Given the description of an element on the screen output the (x, y) to click on. 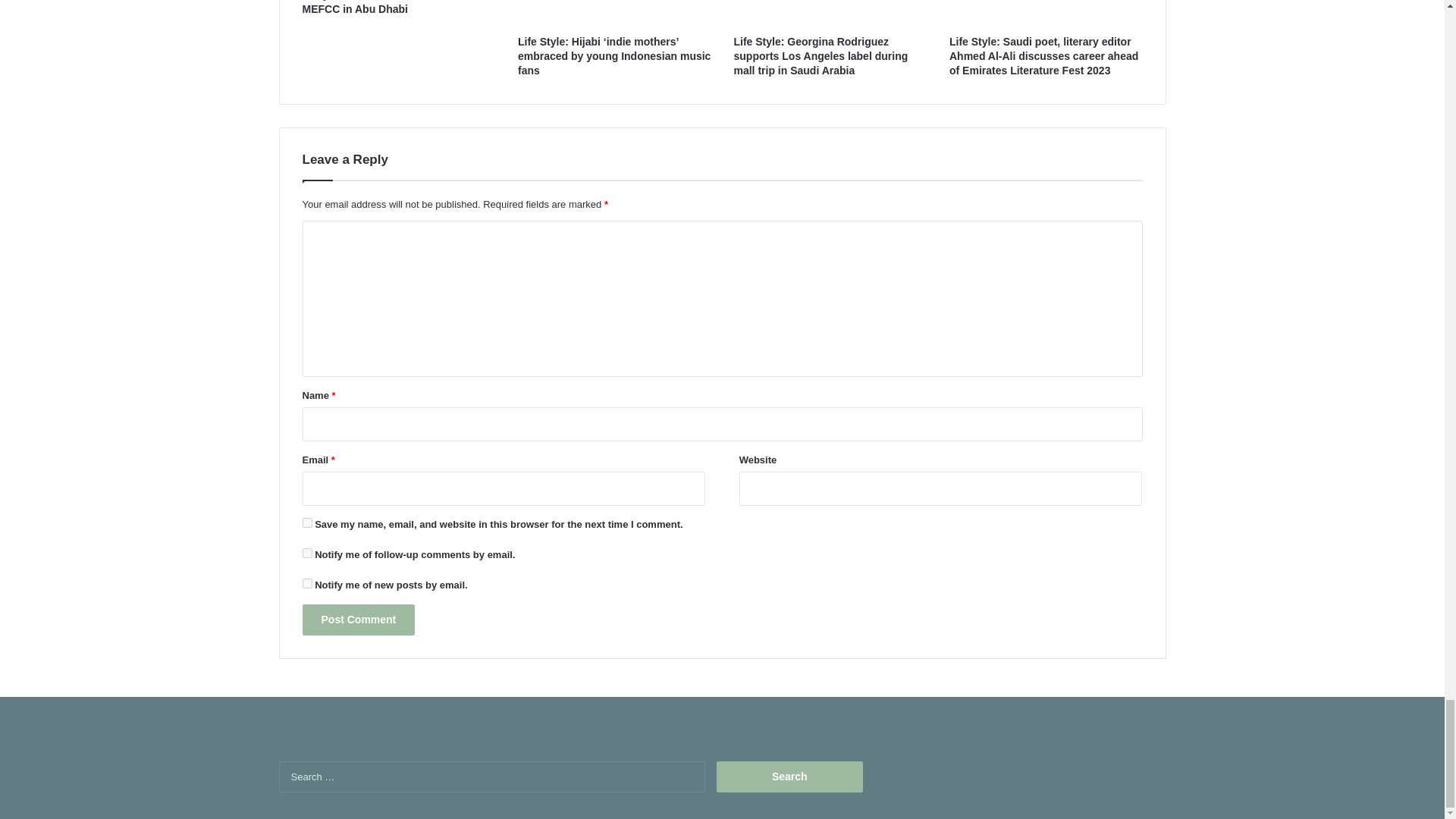
Search (789, 776)
Search (789, 776)
yes (306, 522)
subscribe (306, 583)
Post Comment (357, 619)
subscribe (306, 552)
